Given the description of an element on the screen output the (x, y) to click on. 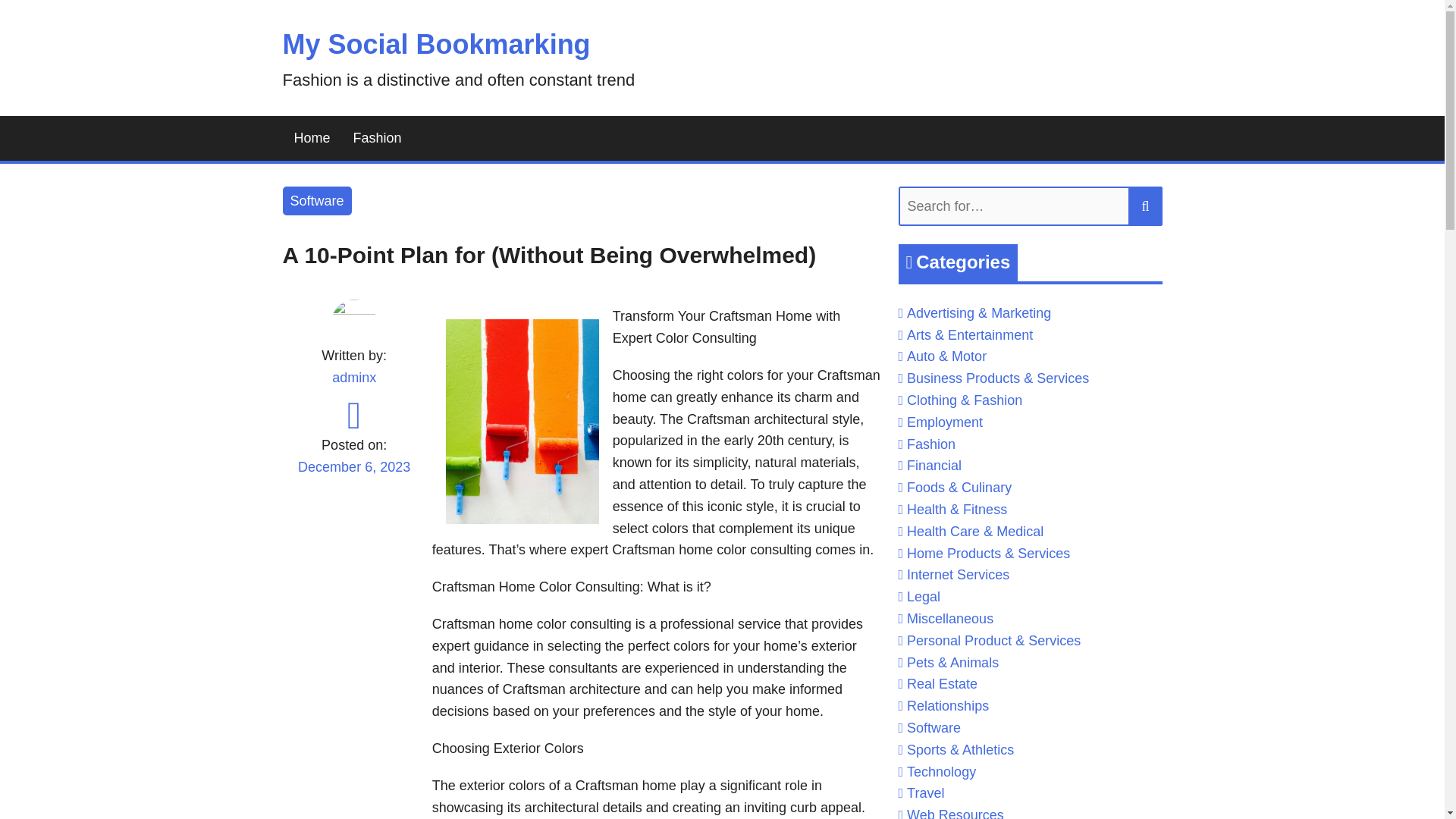
Financial (933, 465)
Technology (941, 771)
Real Estate (941, 683)
Home (311, 138)
Search for: (1029, 206)
Web Resources (955, 813)
December 6, 2023 (353, 476)
My Social Bookmarking (435, 43)
Employment (944, 421)
Fashion (931, 444)
